Given the description of an element on the screen output the (x, y) to click on. 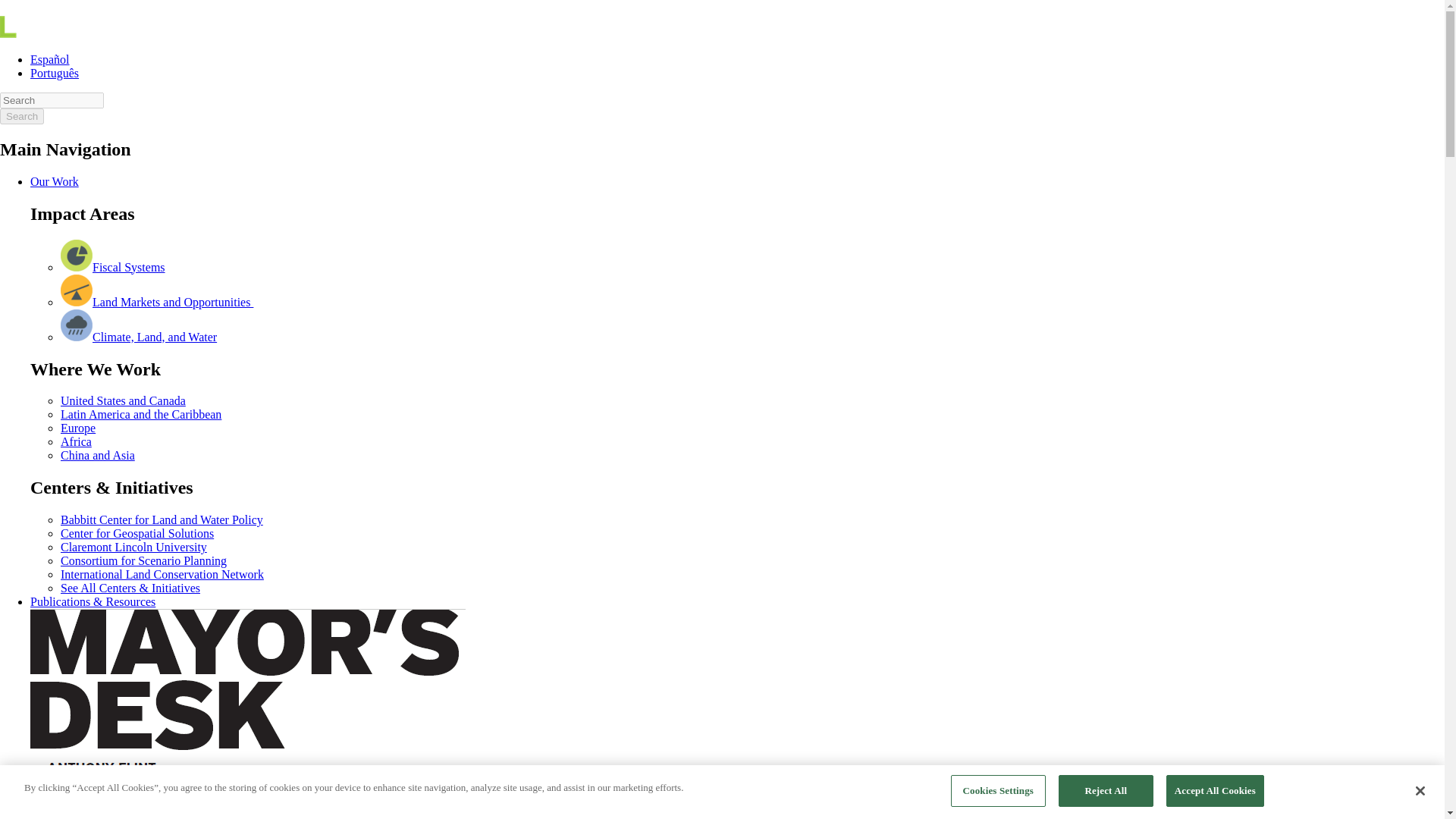
Search (21, 116)
China and Asia (98, 454)
United States and Canada (123, 400)
Fiscal Systems (129, 267)
Search (51, 100)
Africa (76, 440)
Climate, Land, and Water (154, 336)
Latin America and the Caribbean (141, 413)
Search (21, 116)
Center for Geospatial Solutions (137, 533)
Europe (78, 427)
Land Markets and Opportunities  (173, 301)
Consortium for Scenario Planning (144, 560)
International Land Conservation Network (162, 574)
Claremont Lincoln University (133, 546)
